Given the description of an element on the screen output the (x, y) to click on. 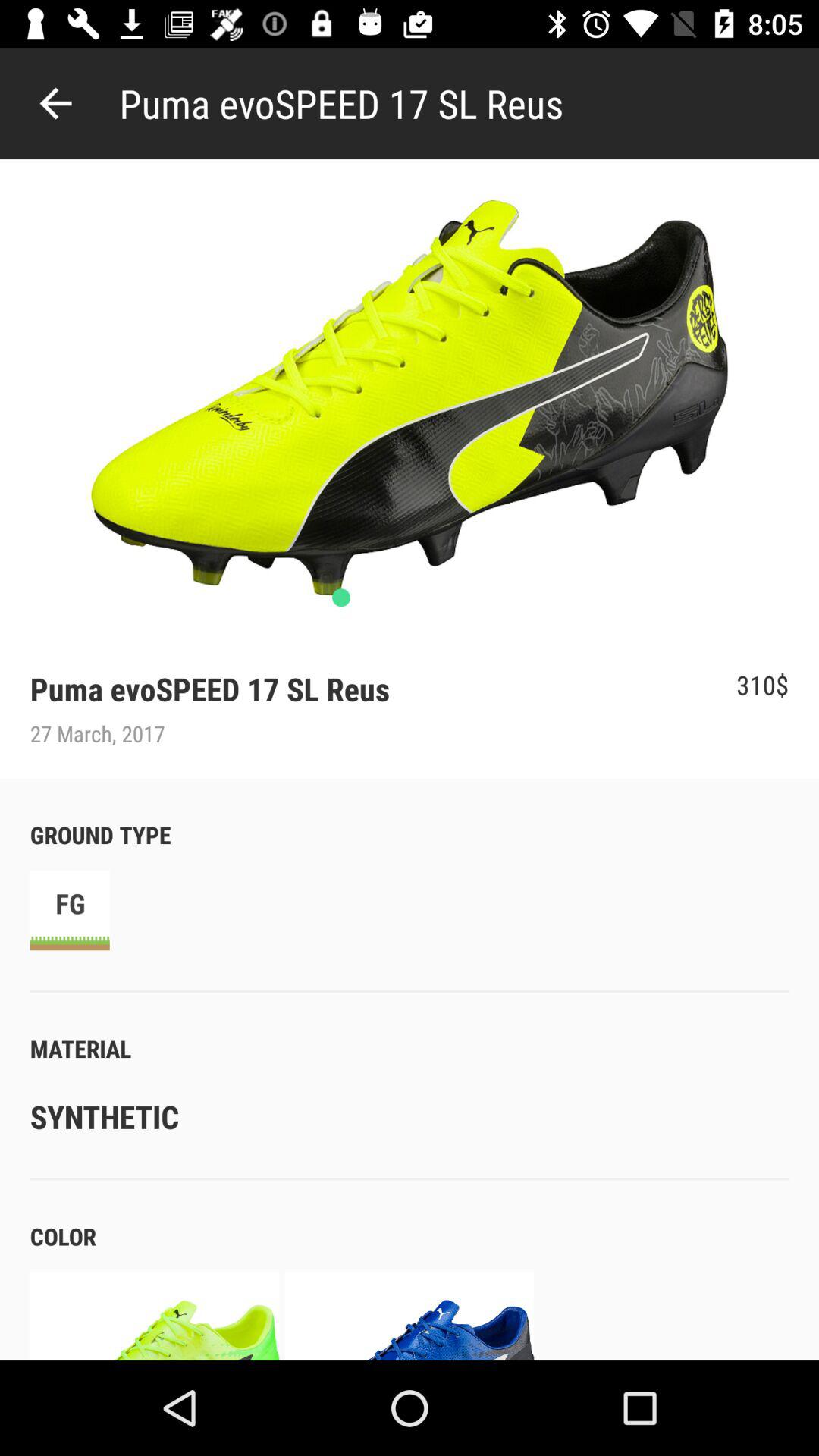
select the icon to the left of puma evospeed 17 app (55, 103)
